Given the description of an element on the screen output the (x, y) to click on. 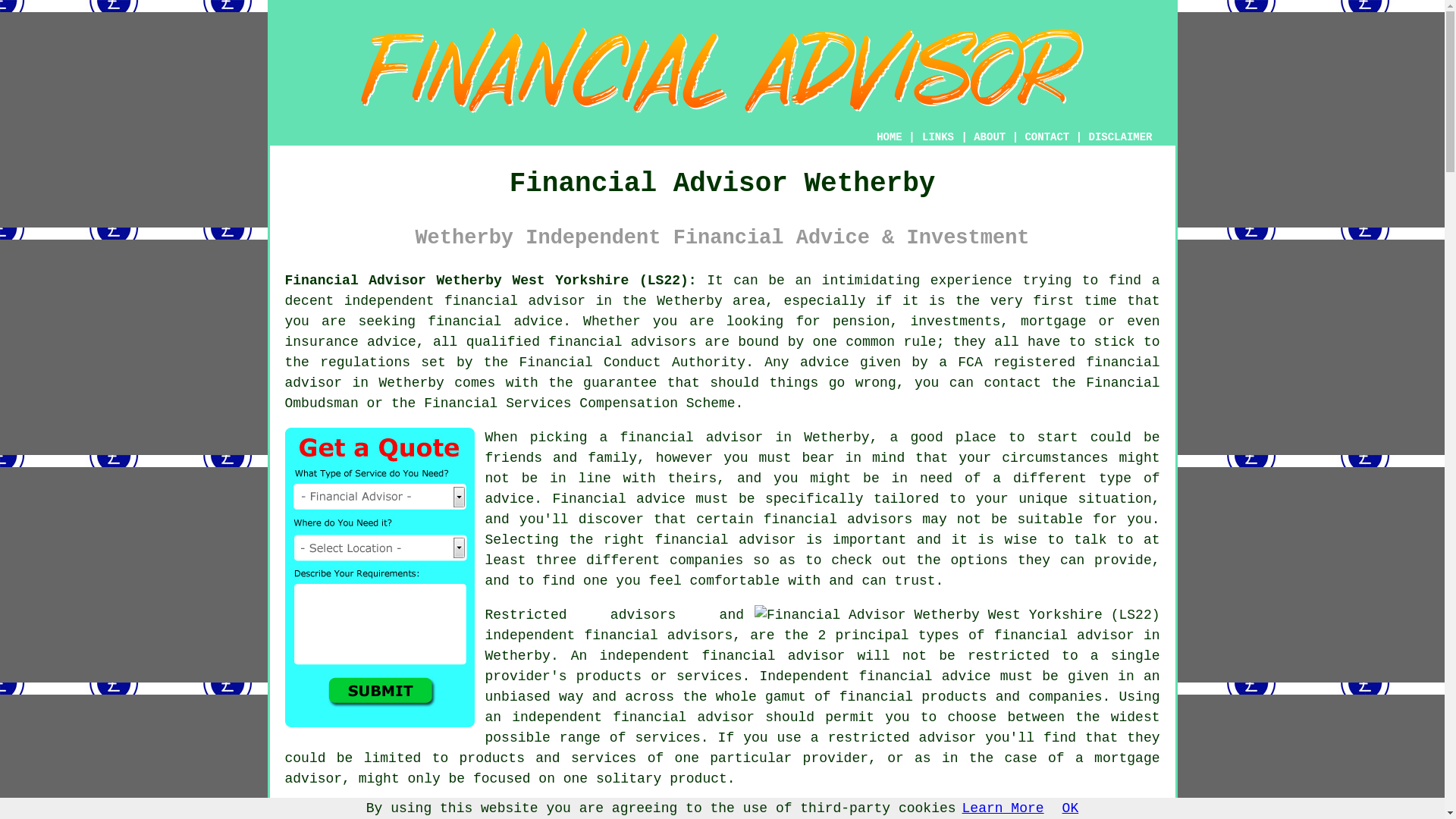
LINKS (938, 137)
Financial Advisor Wetherby (722, 70)
HOME (889, 137)
financial advisor (722, 372)
